Given the description of an element on the screen output the (x, y) to click on. 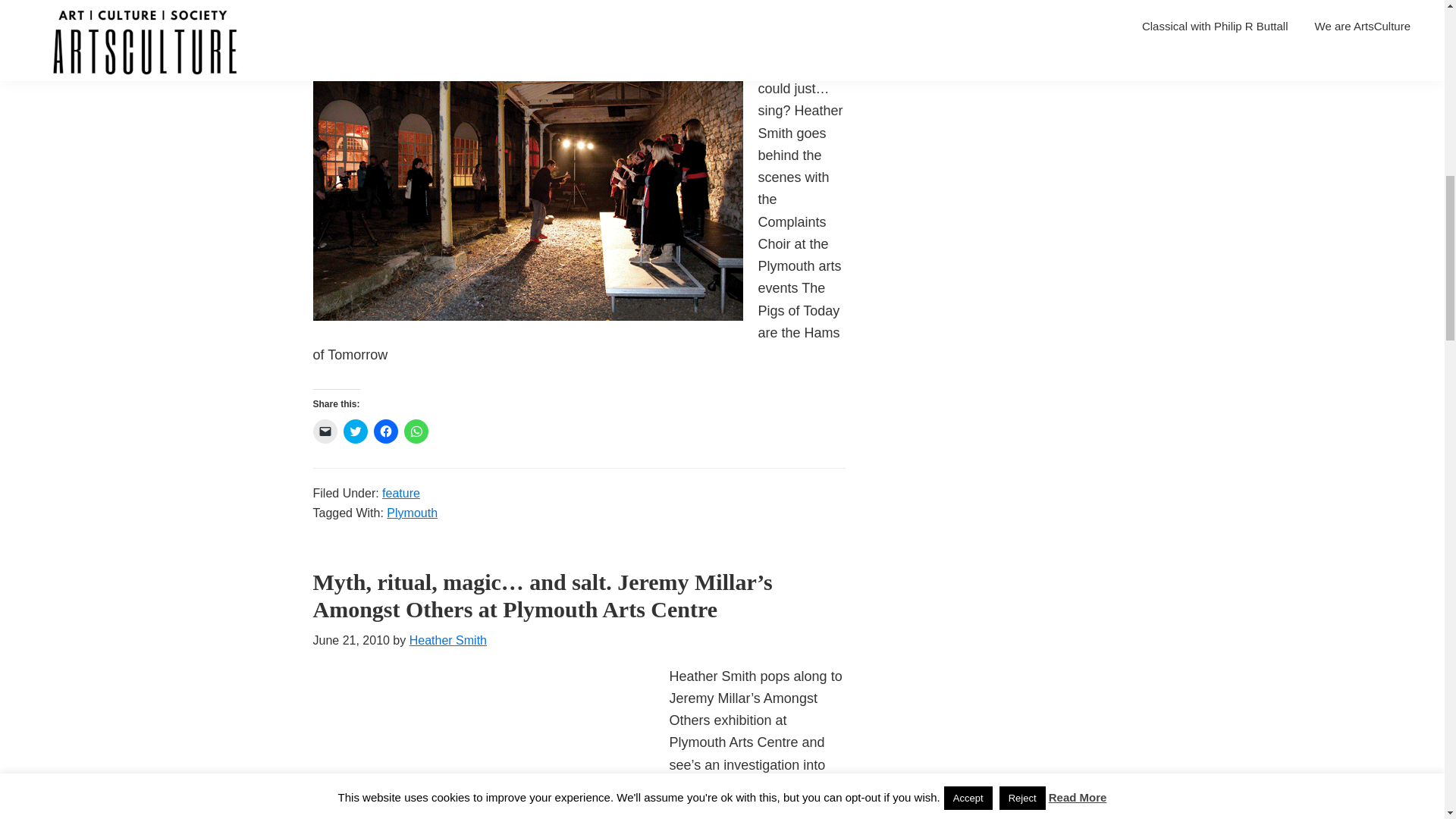
feature (400, 492)
Heather Smith (452, 7)
Click to share on Twitter (354, 431)
Click to share on WhatsApp (415, 431)
Plymouth (412, 512)
Click to share on Facebook (384, 431)
Heather Smith (447, 640)
Click to email a link to a friend (324, 431)
